Given the description of an element on the screen output the (x, y) to click on. 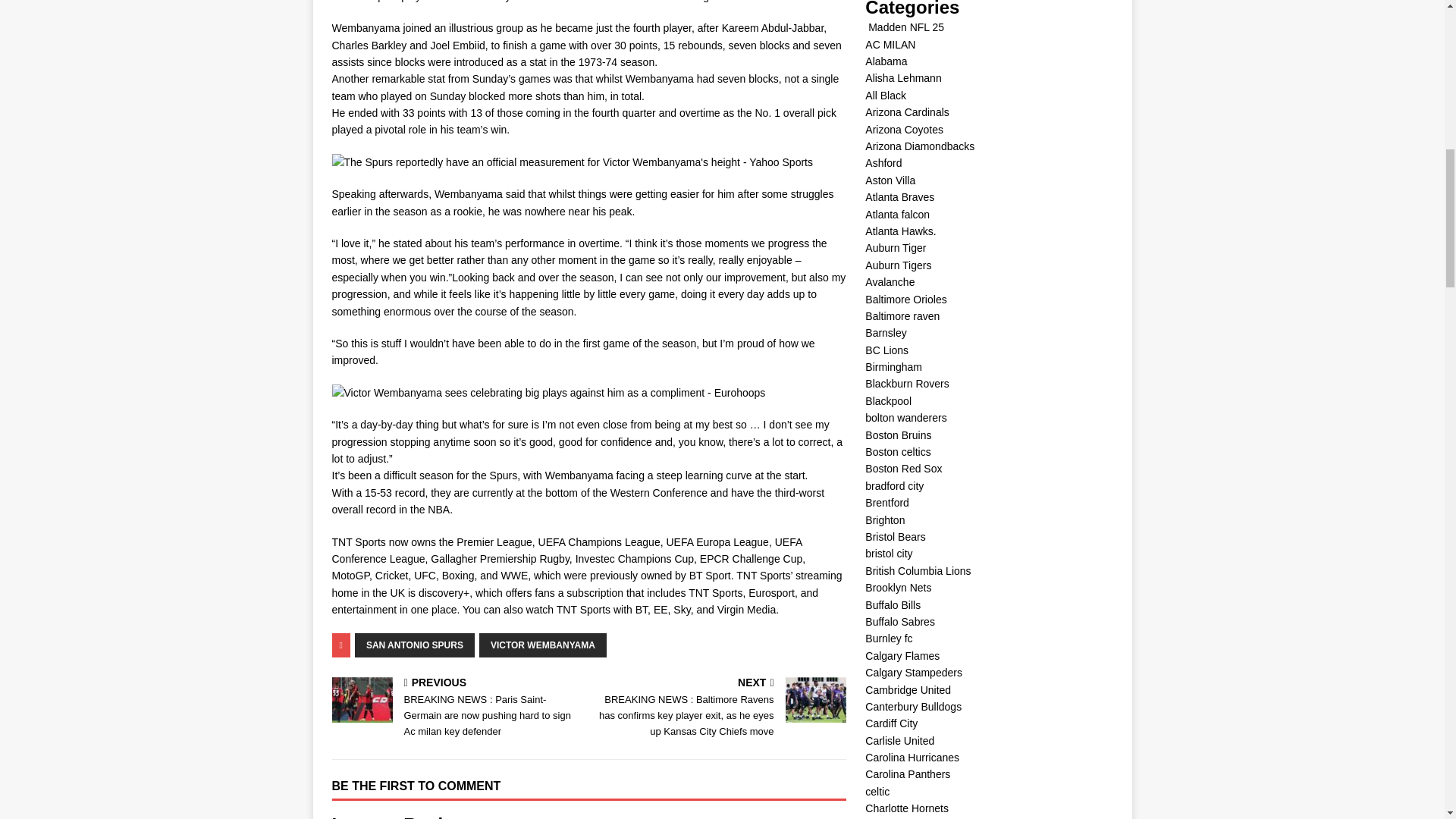
SAN ANTONIO SPURS (414, 645)
VICTOR WEMBANYAMA (543, 645)
